Given the description of an element on the screen output the (x, y) to click on. 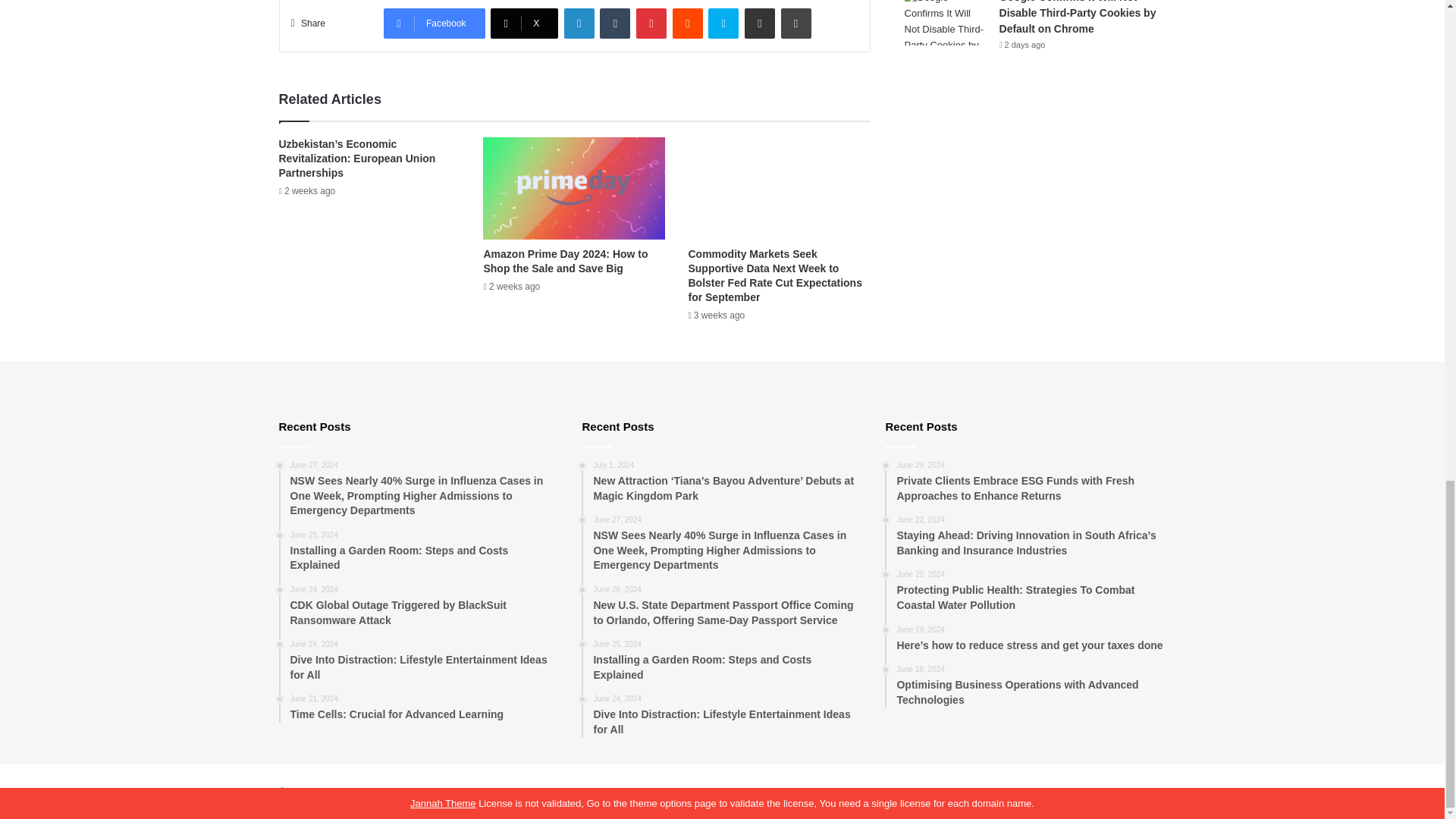
Pinterest (651, 23)
Facebook (434, 23)
Pinterest (651, 23)
X (523, 23)
Reddit (687, 23)
X (523, 23)
LinkedIn (579, 23)
LinkedIn (579, 23)
Print (795, 23)
Facebook (434, 23)
Tumblr (614, 23)
Tumblr (614, 23)
Share via Email (759, 23)
Reddit (687, 23)
